Given the description of an element on the screen output the (x, y) to click on. 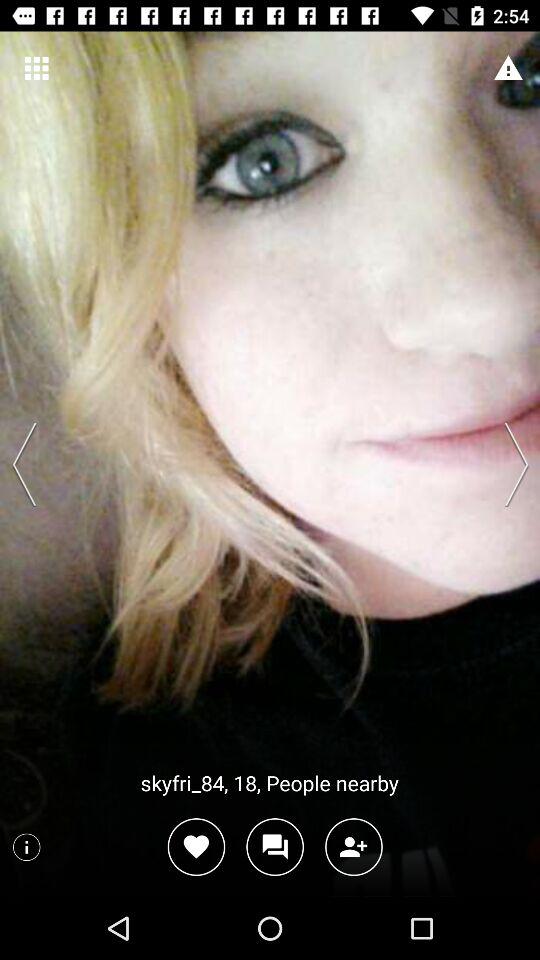
go to previous profile (29, 464)
